Given the description of an element on the screen output the (x, y) to click on. 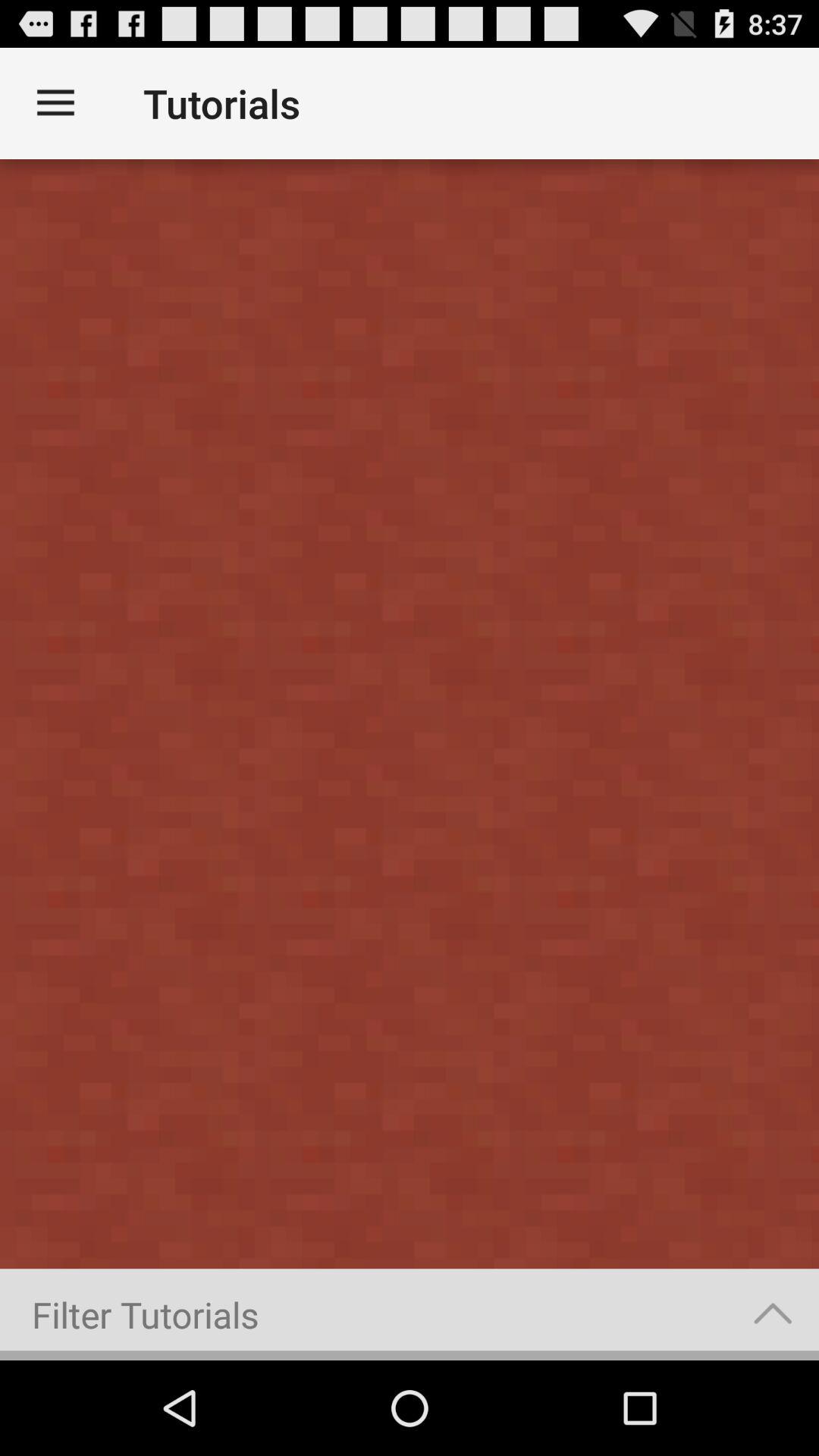
open the icon to the left of tutorials icon (55, 103)
